Given the description of an element on the screen output the (x, y) to click on. 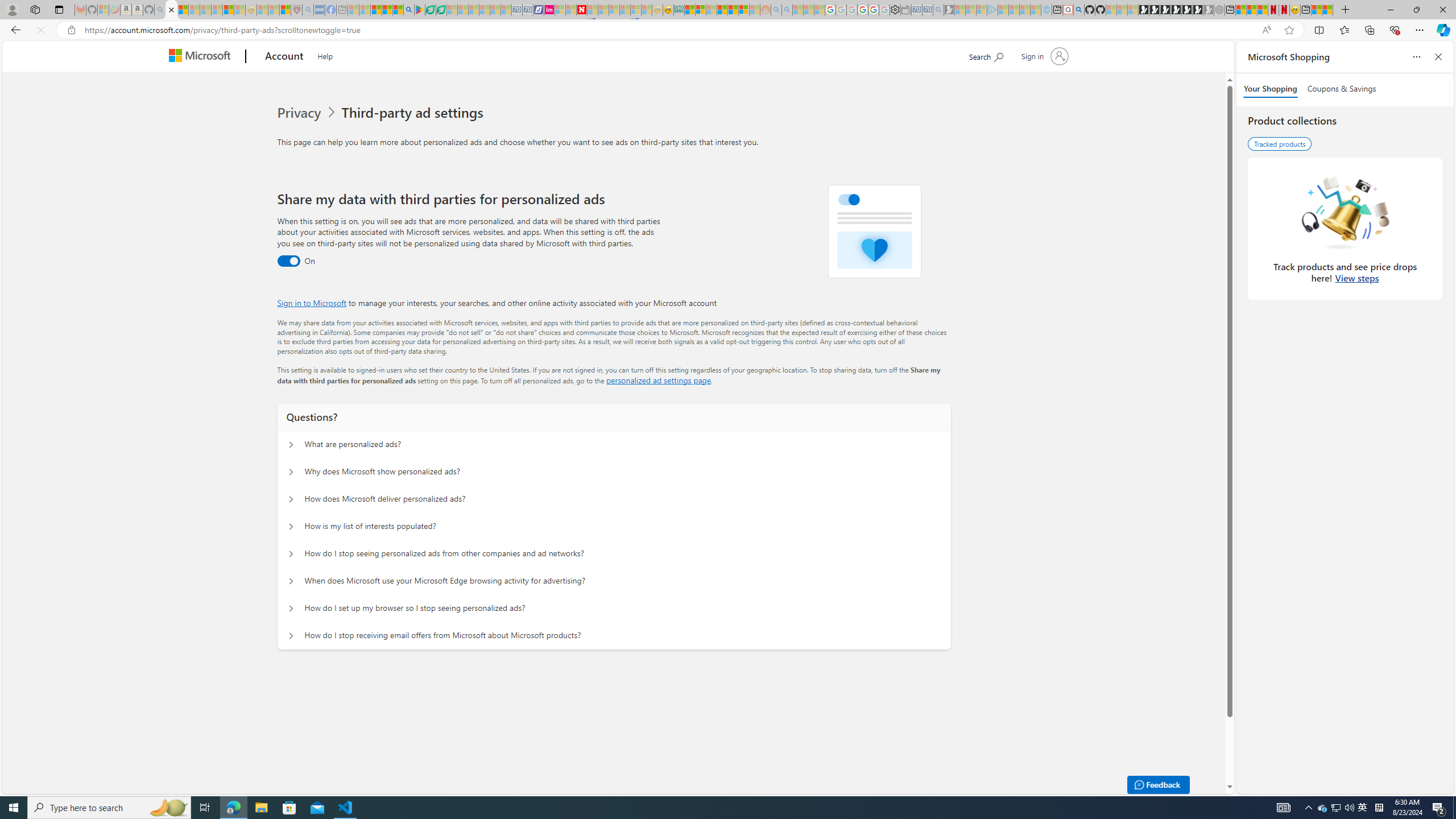
Search Microsoft.com (986, 54)
Local - MSN (285, 9)
